Given the description of an element on the screen output the (x, y) to click on. 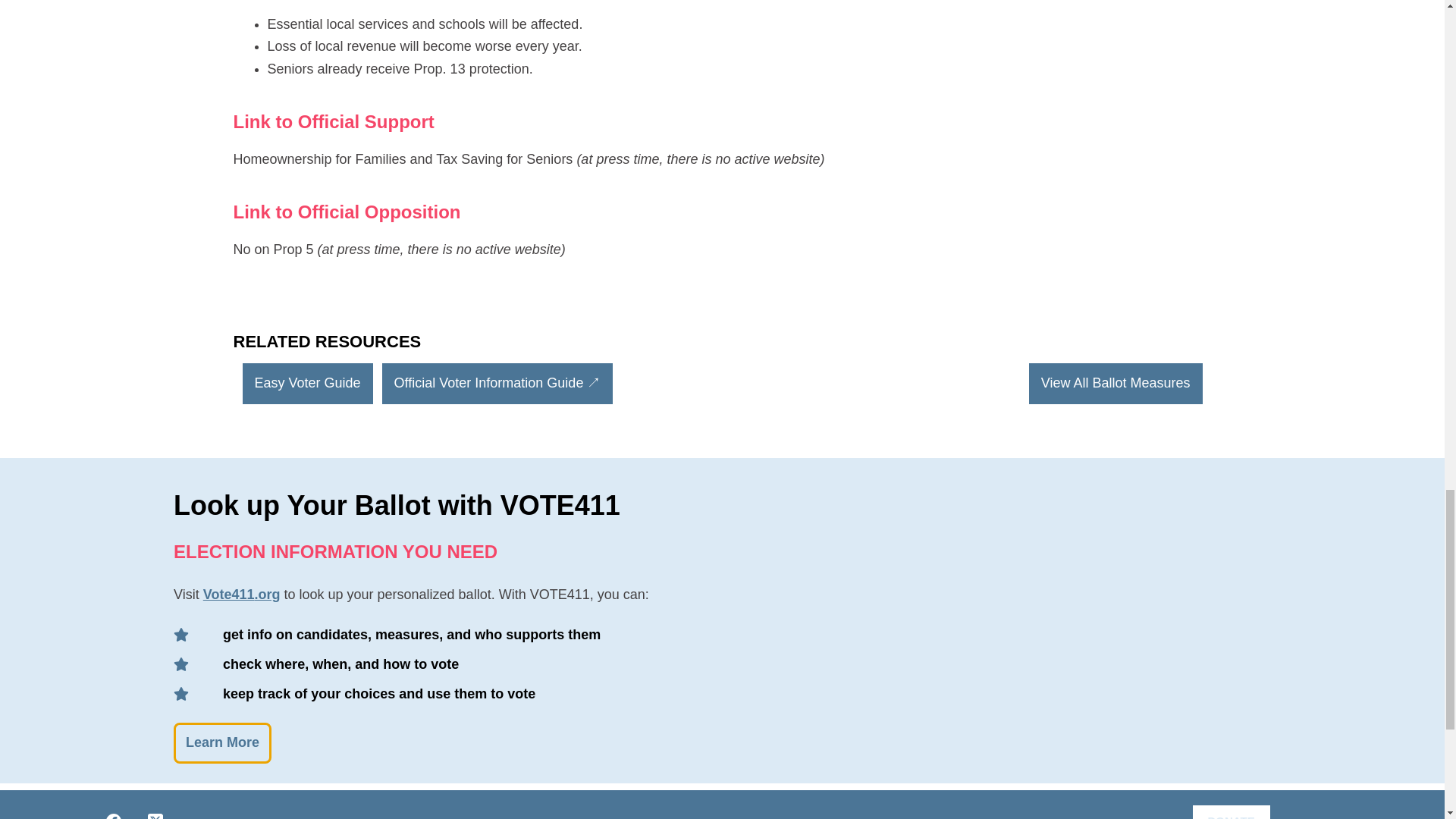
Easy Voter Guide (307, 383)
.org (266, 594)
Learn More (221, 742)
View All Ballot Measures (1115, 383)
Vote411 (228, 594)
